Given the description of an element on the screen output the (x, y) to click on. 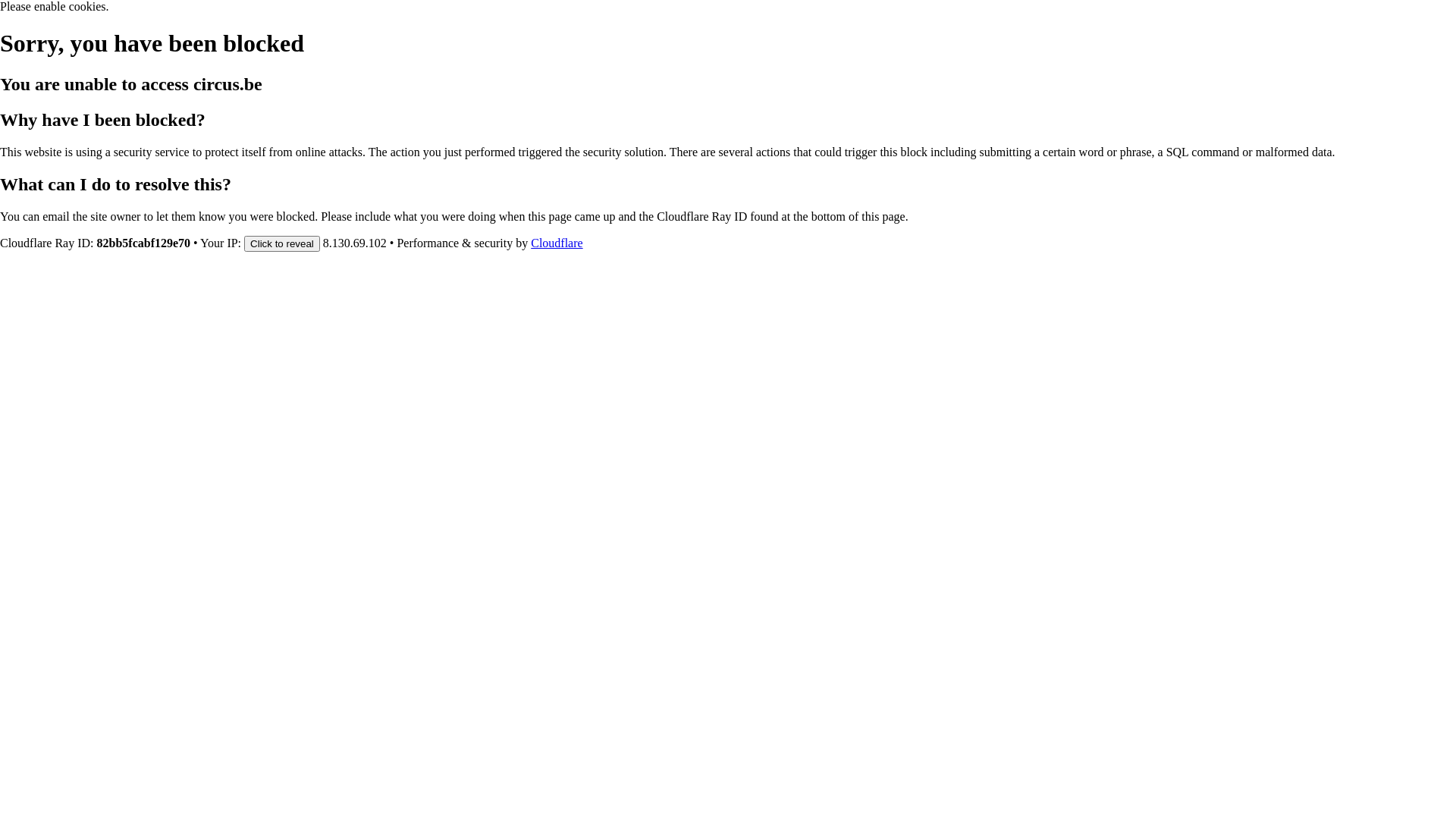
Click to reveal Element type: text (282, 243)
Cloudflare Element type: text (556, 242)
